Given the description of an element on the screen output the (x, y) to click on. 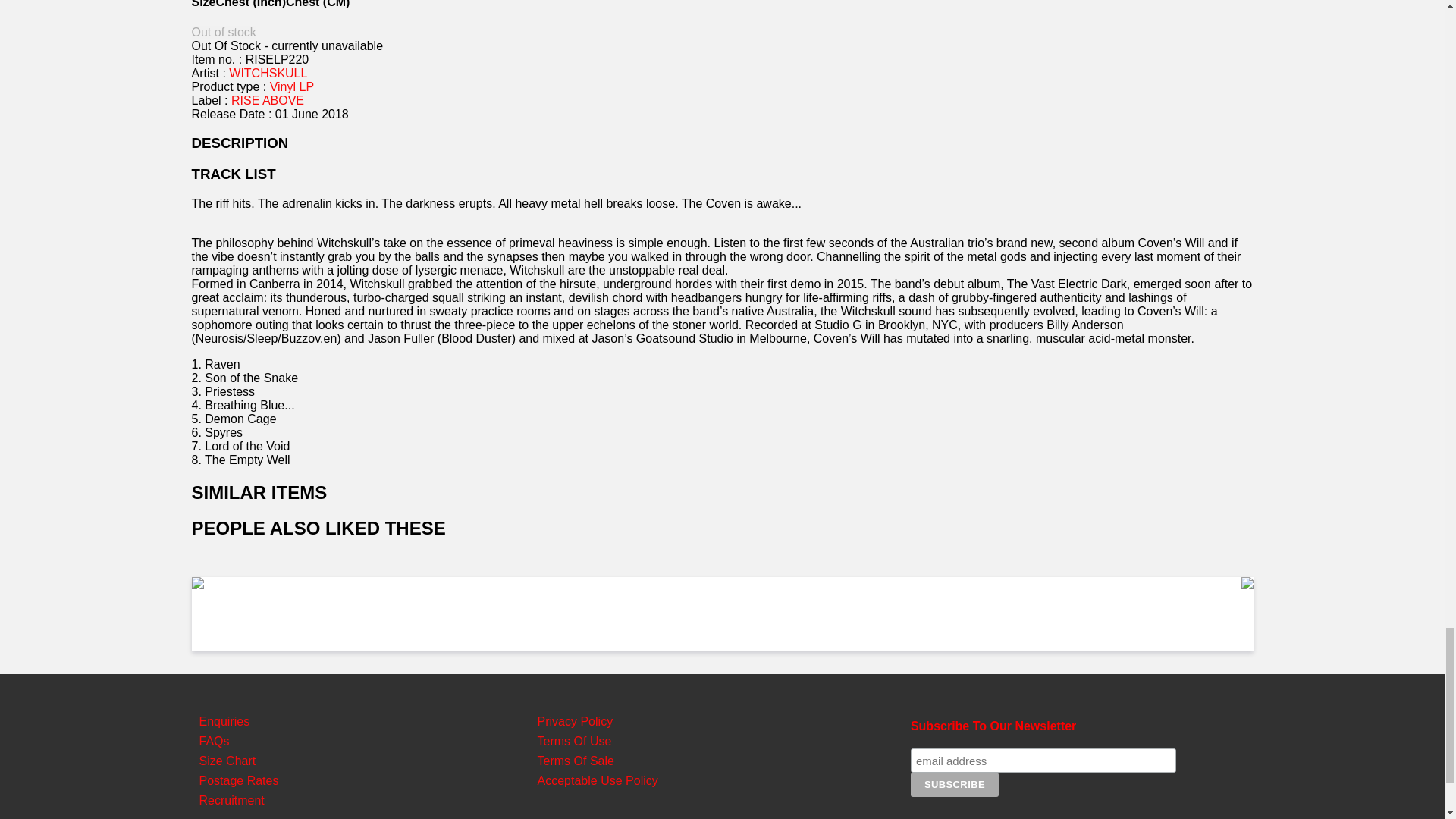
Out of stock (223, 32)
Subscribe (954, 784)
